Given the description of an element on the screen output the (x, y) to click on. 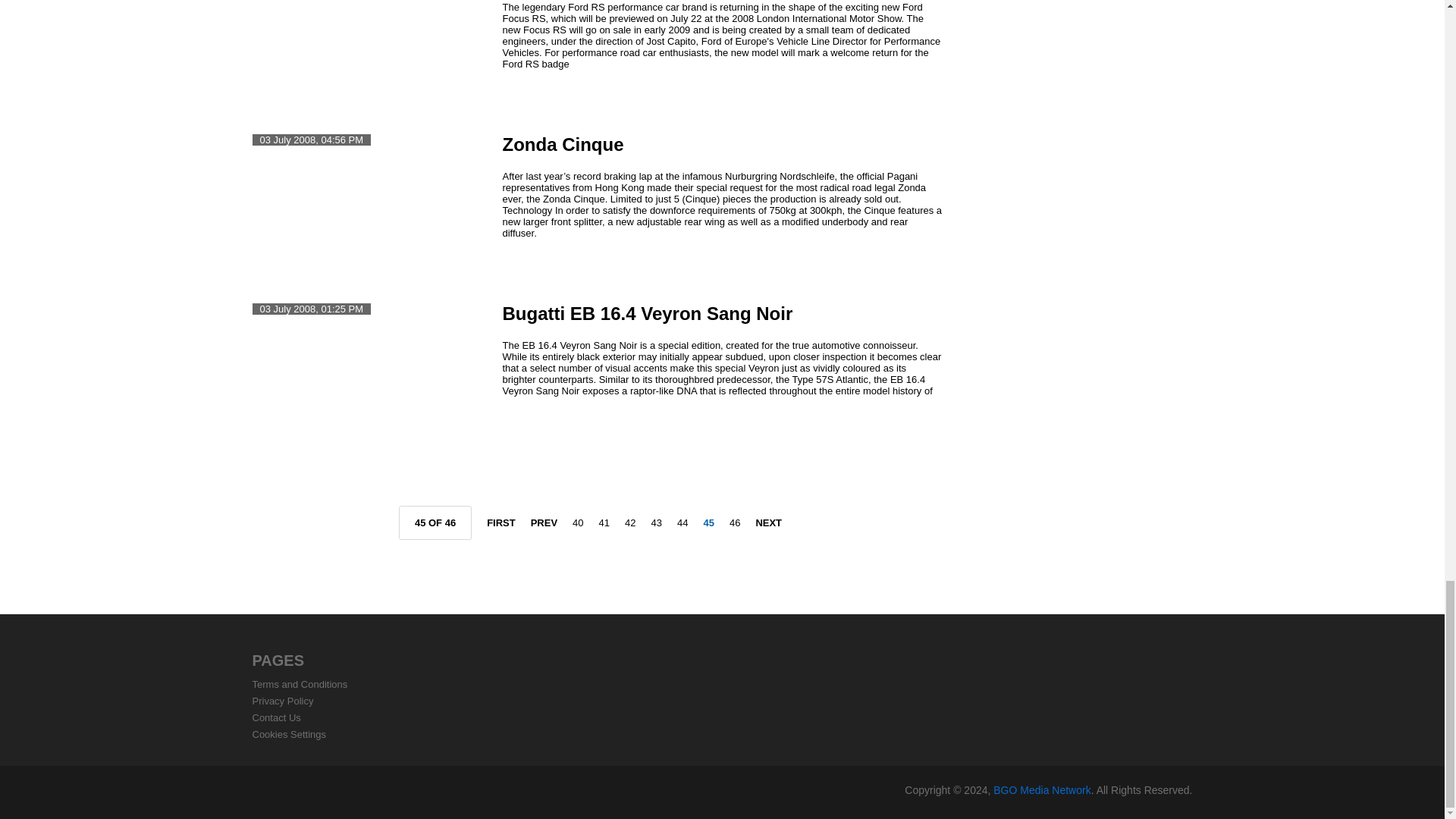
FIRST (500, 522)
Zonda Cinque (562, 144)
42 (629, 522)
46 (734, 522)
Bugatti EB 16.4 Veyron Sang Noir (647, 313)
NEXT (768, 522)
PREV (544, 522)
41 (604, 522)
44 (682, 522)
40 (577, 522)
